Given the description of an element on the screen output the (x, y) to click on. 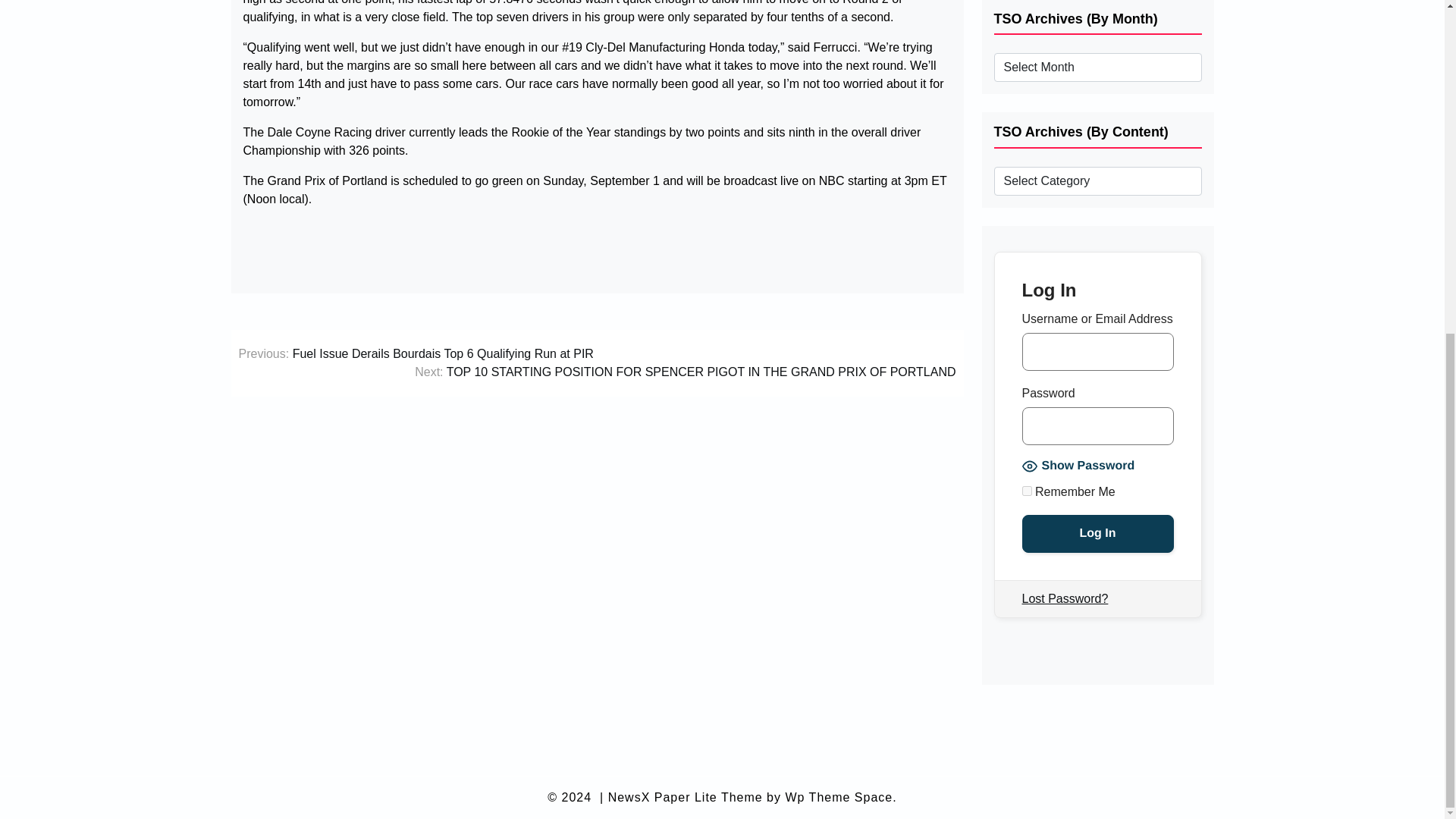
Log In (1097, 533)
forever (1027, 491)
Lost Password? (1065, 598)
NewsX Paper Lite Theme (685, 797)
Show Password (1078, 466)
Log In (1097, 533)
